Given the description of an element on the screen output the (x, y) to click on. 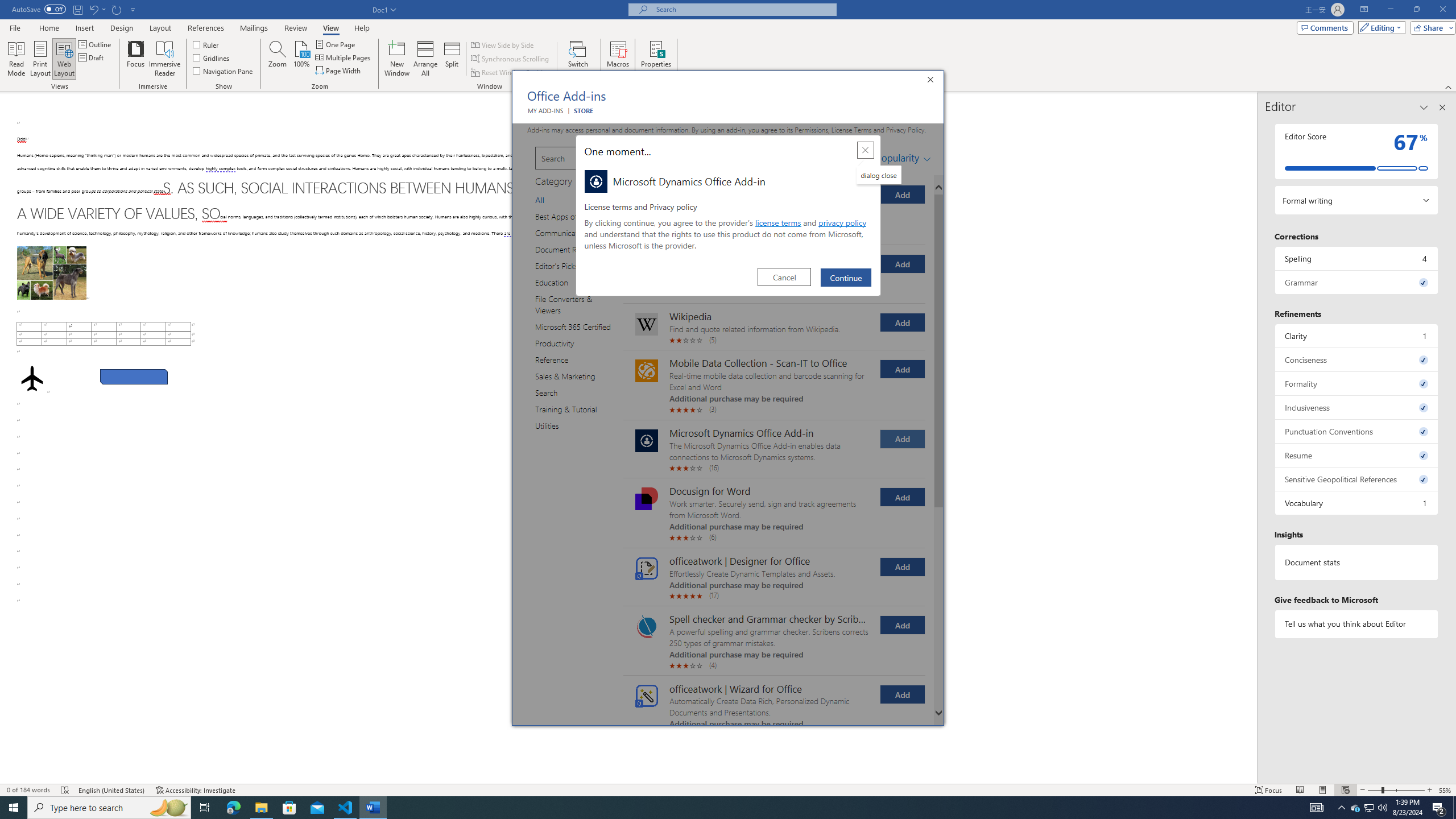
MY ADD-INS (545, 110)
Clarity, 1 issue. Press space or enter to review items. (1356, 335)
Editor Score 67% (1356, 151)
